Given the description of an element on the screen output the (x, y) to click on. 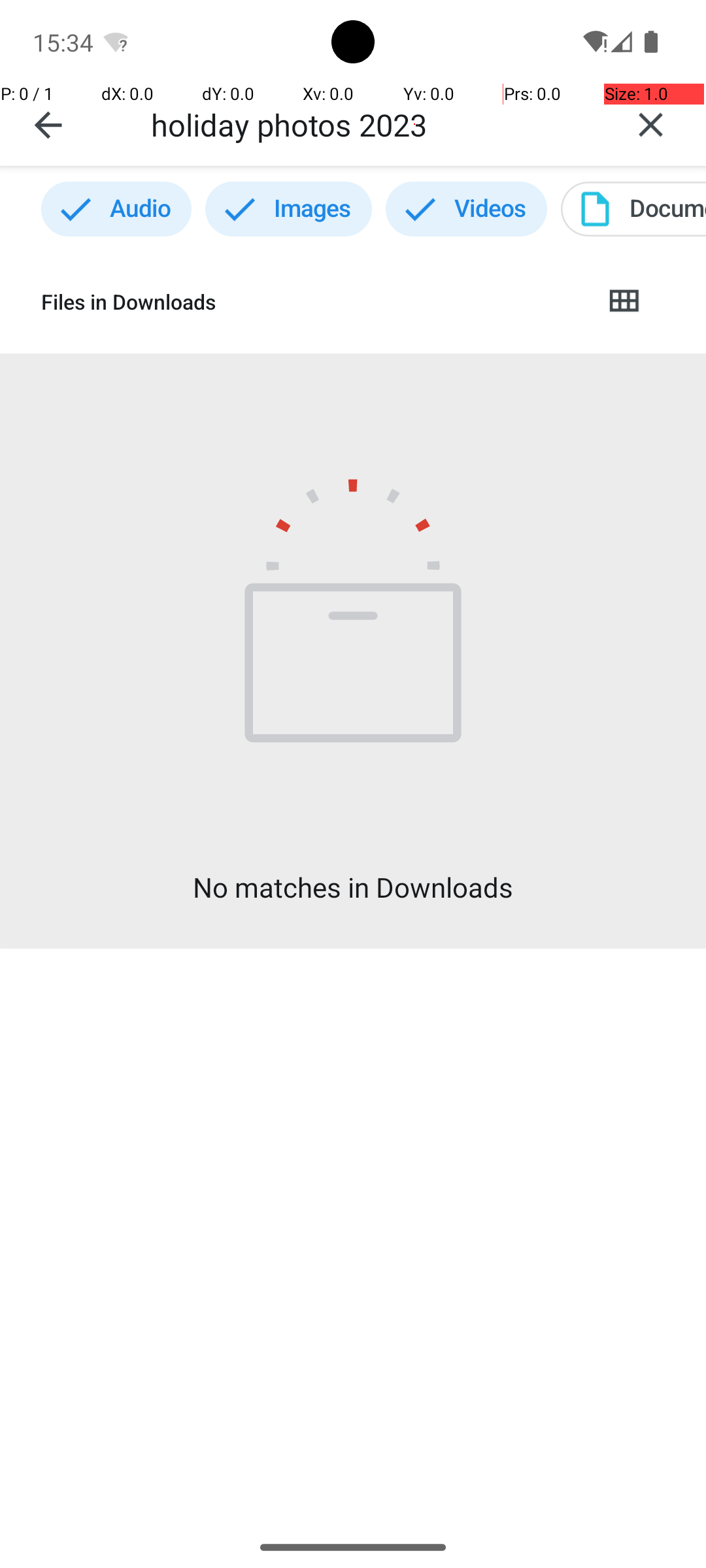
holiday photos 2023 Element type: android.widget.AutoCompleteTextView (373, 124)
